Given the description of an element on the screen output the (x, y) to click on. 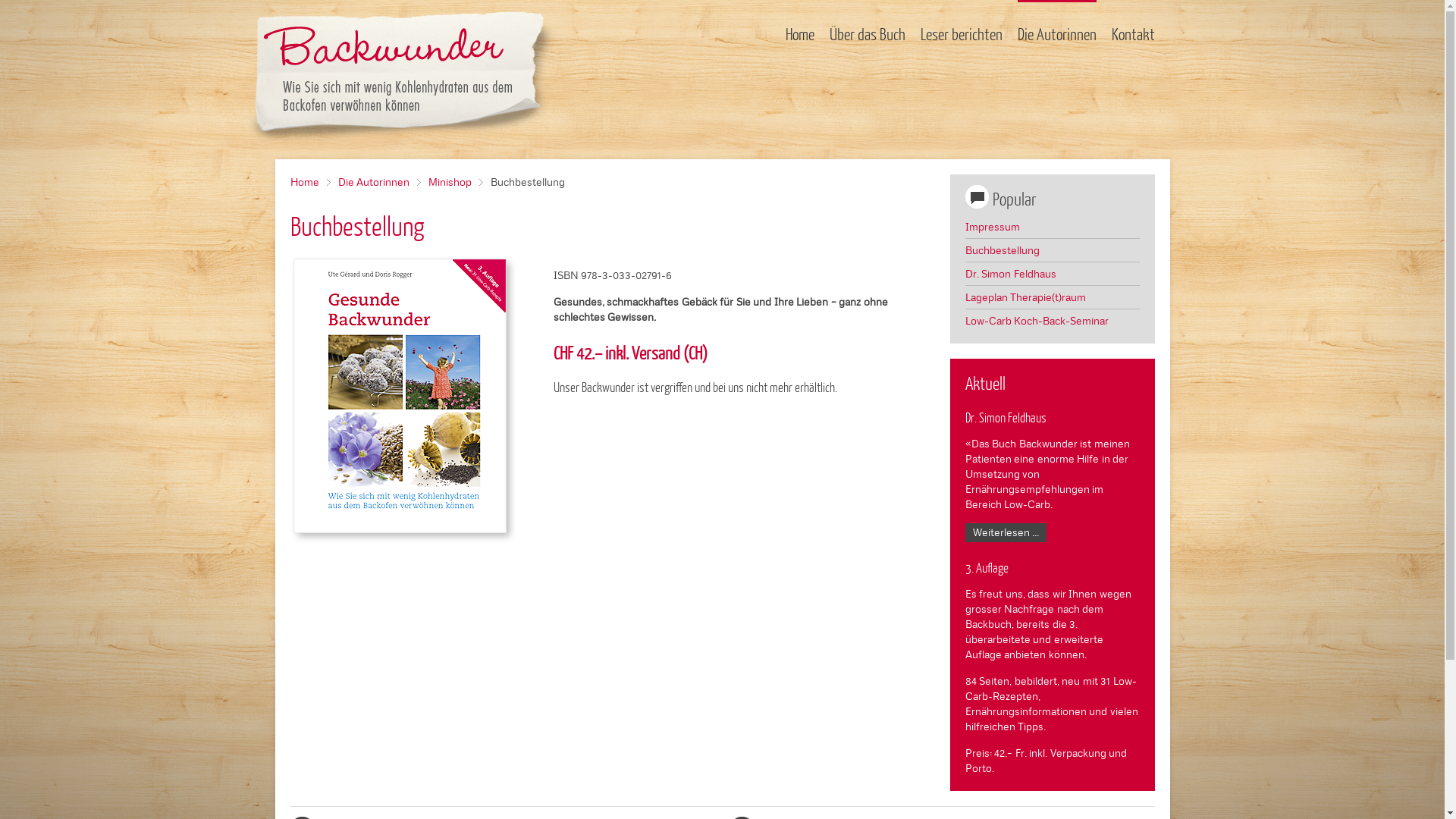
Impressum Element type: text (1051, 226)
Weiterlesen ... Element type: text (1005, 532)
Kontakt Element type: text (1132, 33)
Low-Carb Koch-Back-Seminar Element type: text (1051, 320)
Lageplan Therapie(t)raum Element type: text (1051, 296)
Buchbestellung Element type: text (1051, 249)
Dr. Simon Feldhaus Element type: text (1051, 273)
Home Element type: text (799, 33)
Home Element type: text (309, 181)
Die Autorinnen Element type: text (1056, 33)
Minishop Element type: text (455, 181)
Die Autorinnen Element type: text (379, 181)
Leser berichten Element type: text (961, 33)
